Given the description of an element on the screen output the (x, y) to click on. 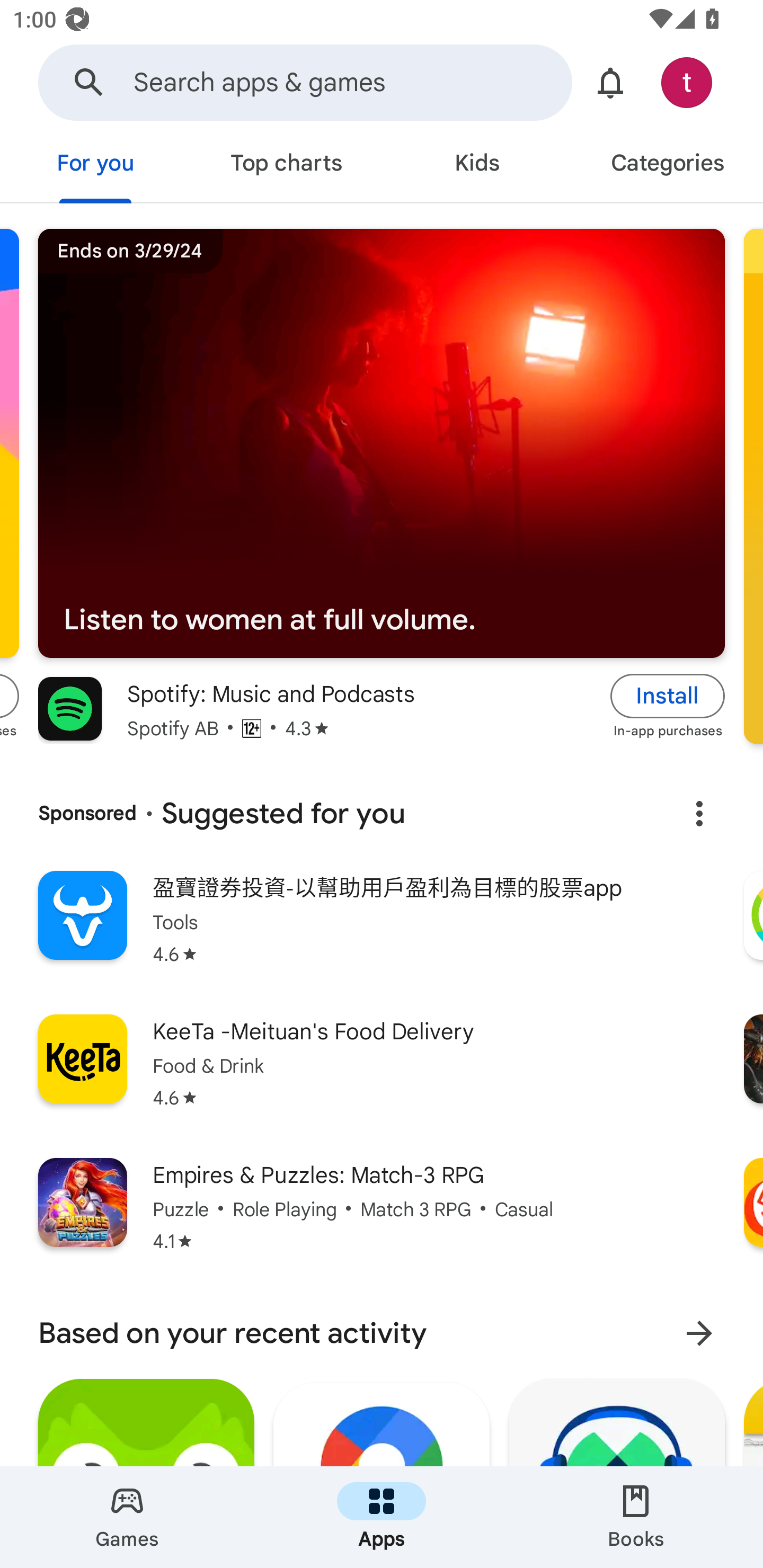
Search Google Play Search apps & games (305, 81)
Search Google Play (89, 81)
Show notifications and offers. (610, 81)
Top charts (285, 165)
Kids (476, 165)
Categories (667, 165)
Listen to women at full volume. Ends on 3/29/24 (381, 443)
Install (667, 695)
About this ad (699, 813)
盈寶證券投資-以幫助用戶盈利為目標的股票app
Tools
Star rating: 4.6
 (381, 929)
More results for Based on your recent activity (699, 1333)
Games (127, 1517)
Books (635, 1517)
